Given the description of an element on the screen output the (x, y) to click on. 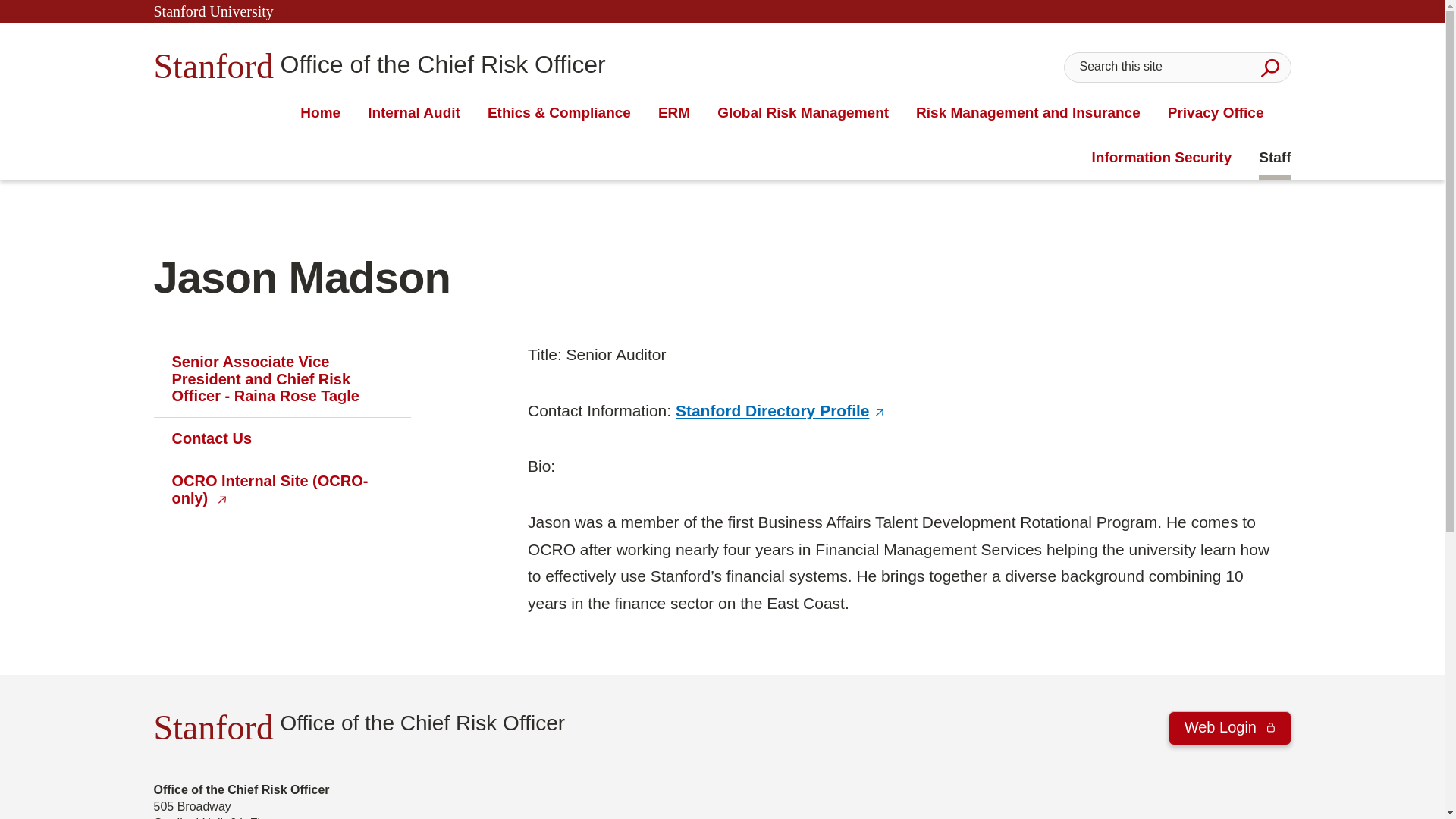
Submit Search (378, 61)
Internal Audit (1269, 67)
Skip to main content (414, 112)
